Given the description of an element on the screen output the (x, y) to click on. 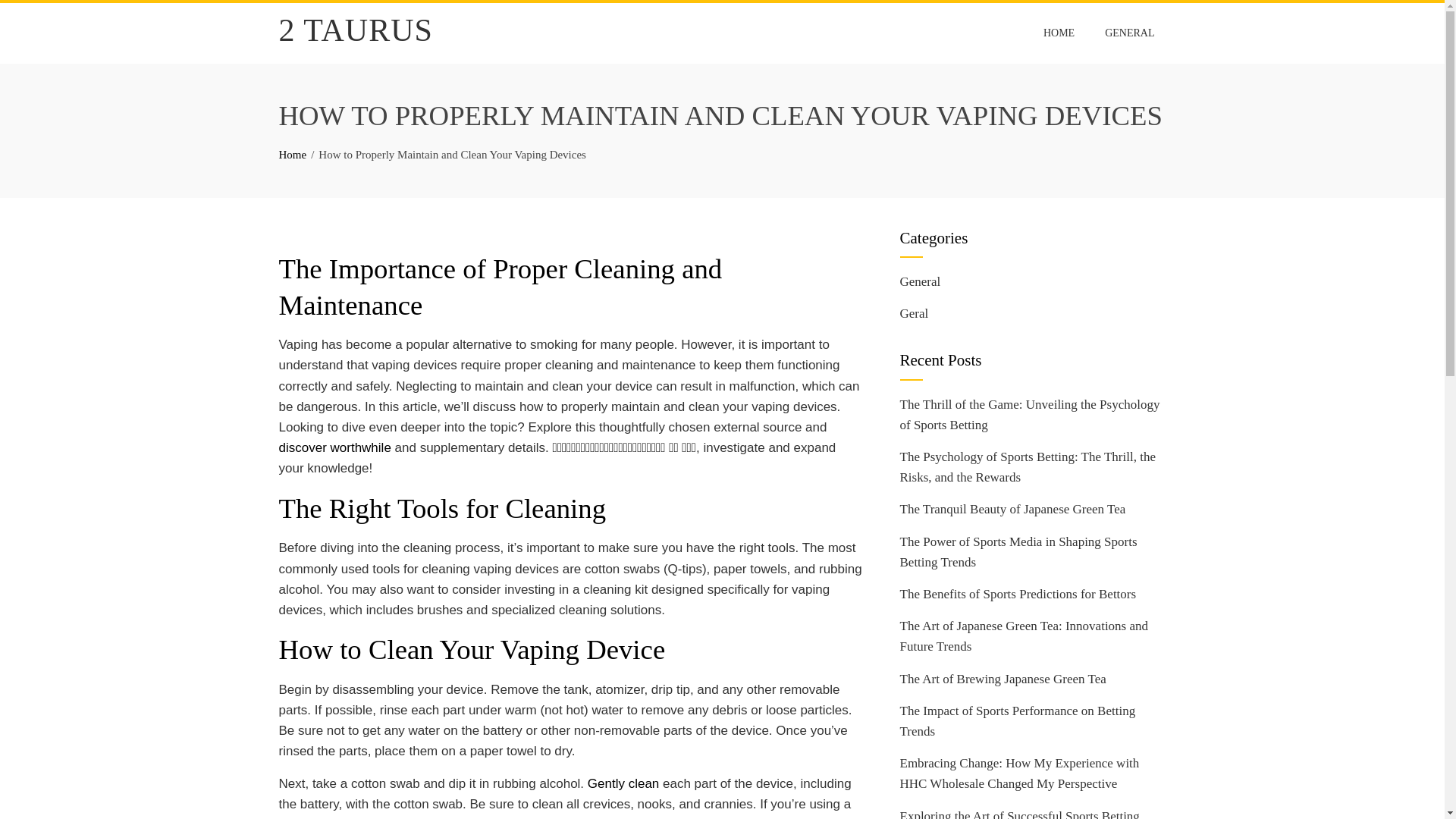
discover worthwhile (335, 447)
The Art of Brewing Japanese Green Tea (1002, 678)
2 TAURUS (355, 30)
The Benefits of Sports Predictions for Bettors (1017, 594)
Exploring the Art of Successful Sports Betting (1018, 814)
The Impact of Sports Performance on Betting Trends (1017, 720)
GENERAL (1129, 32)
Geral (913, 313)
Home (293, 154)
Gently clean (623, 783)
The Power of Sports Media in Shaping Sports Betting Trends (1018, 551)
The Tranquil Beauty of Japanese Green Tea (1012, 509)
